Given the description of an element on the screen output the (x, y) to click on. 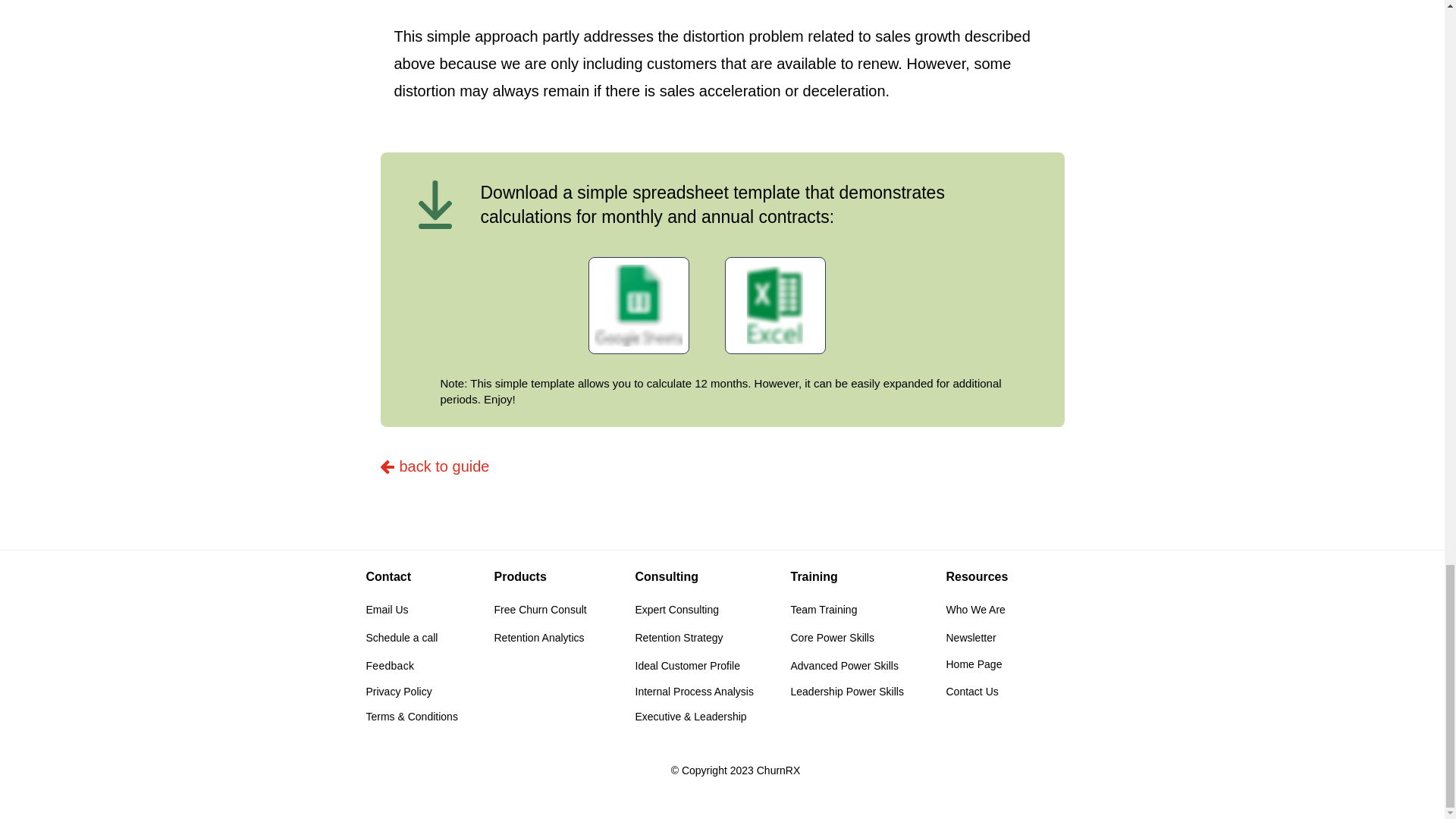
Free Churn Consult (540, 609)
Privacy Policy (397, 691)
Retention Analytics (540, 637)
Feedback (389, 665)
Advanced Power Skills (844, 665)
Newsletter (970, 637)
Email Us (386, 609)
Internal Process Analysis (694, 691)
Core Power Skills (831, 637)
Who We Are (976, 609)
